Given the description of an element on the screen output the (x, y) to click on. 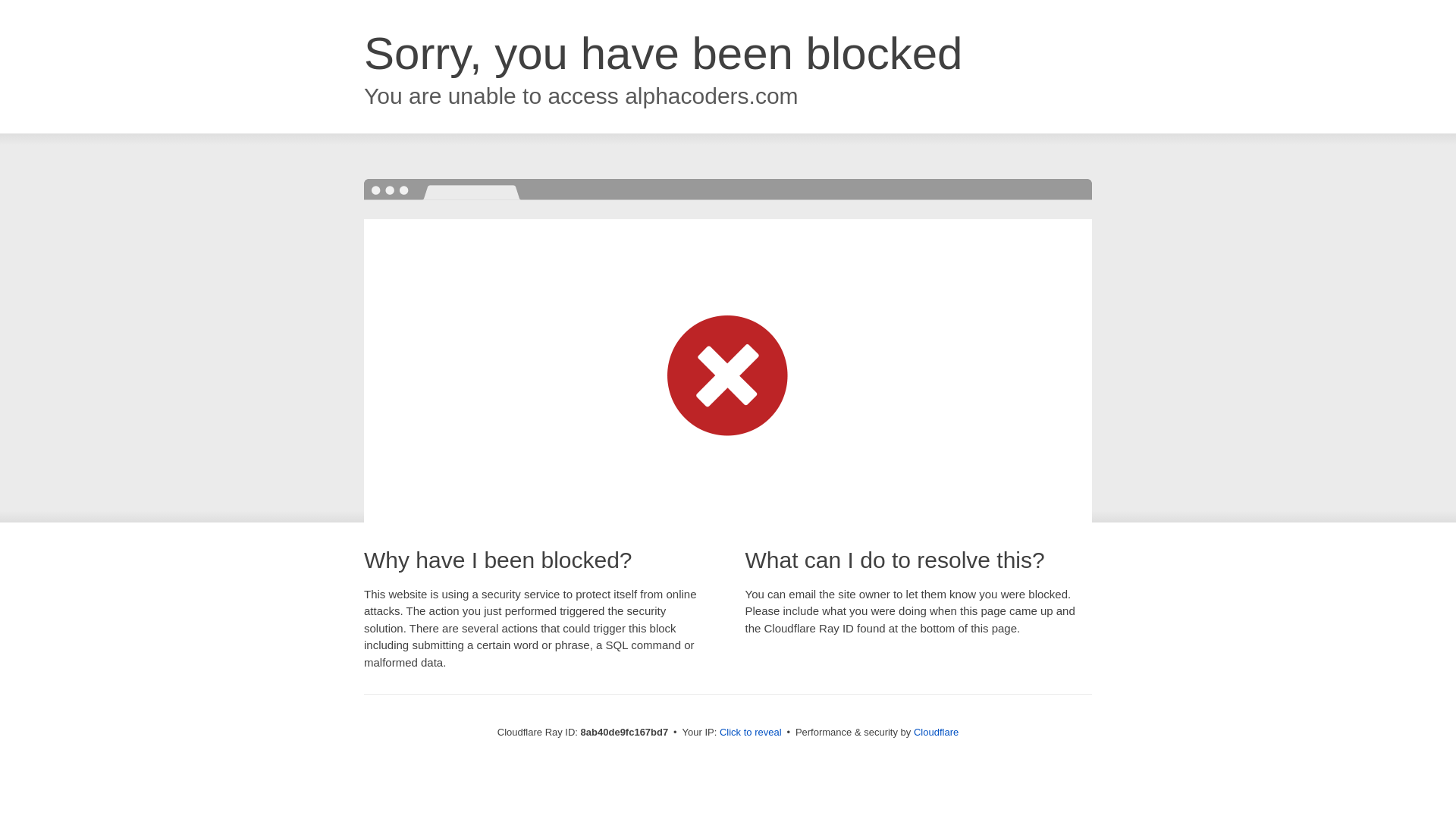
Cloudflare (936, 731)
Click to reveal (750, 732)
